Given the description of an element on the screen output the (x, y) to click on. 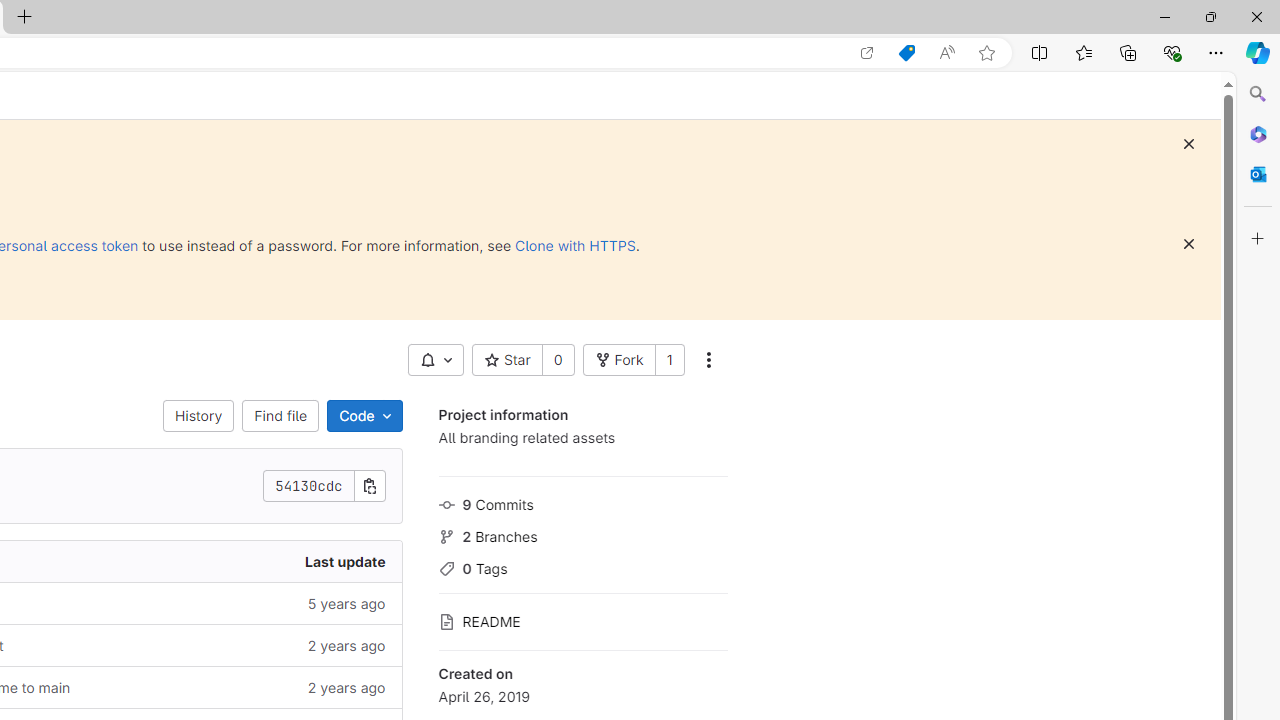
README (582, 620)
9 Commits (582, 502)
History (198, 416)
2 Branches (582, 534)
README (582, 620)
Dismiss (1188, 243)
2 years ago (247, 687)
AutomationID: __BVID__301__BV_toggle_ (435, 359)
